Given the description of an element on the screen output the (x, y) to click on. 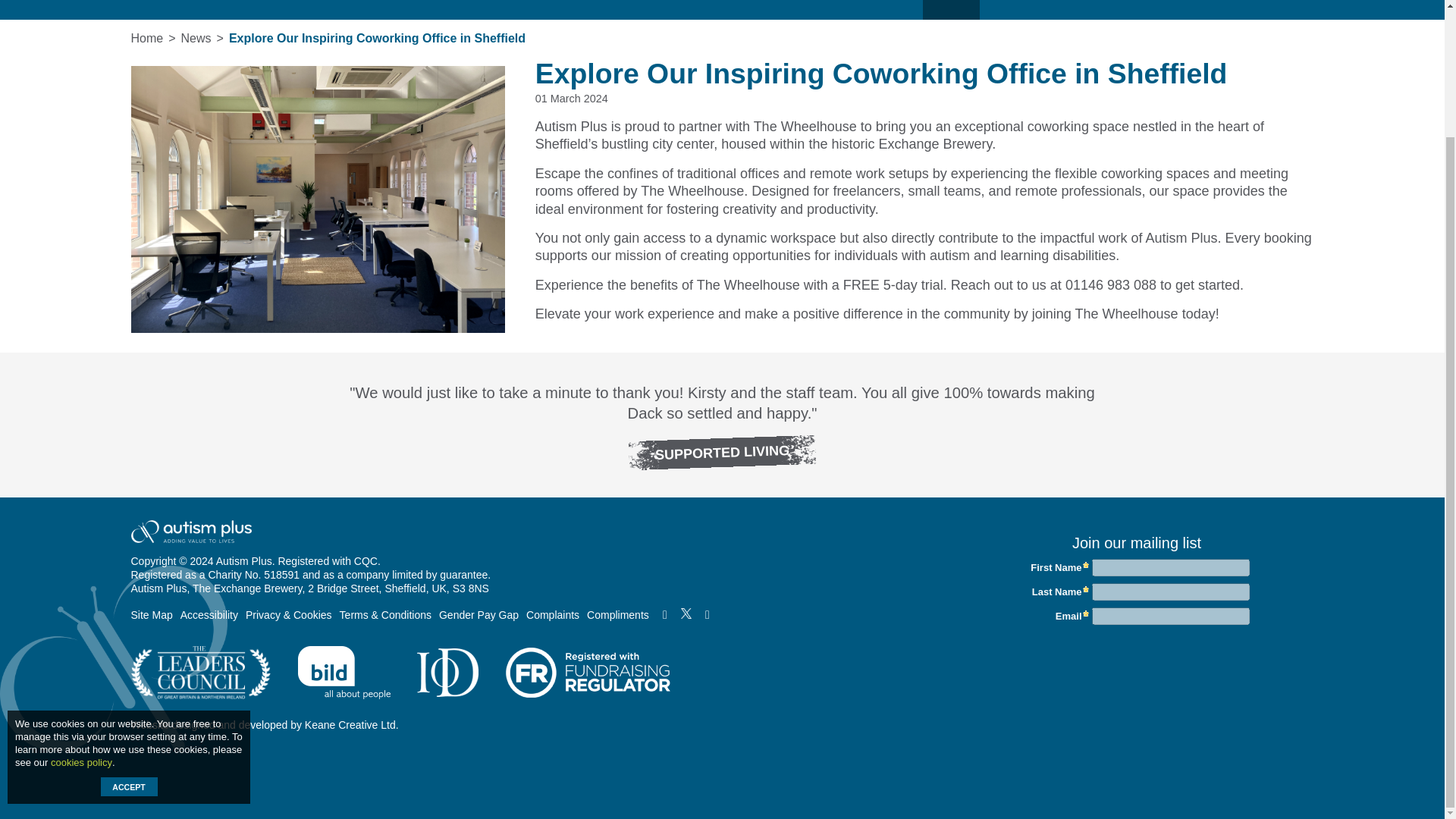
Home (149, 9)
What's On (878, 9)
Careers (729, 9)
ACCEPT (128, 632)
About Us (224, 9)
Training (800, 9)
News (951, 9)
cookies policy (81, 608)
Care and Support (339, 9)
Employment Support (485, 9)
